Given the description of an element on the screen output the (x, y) to click on. 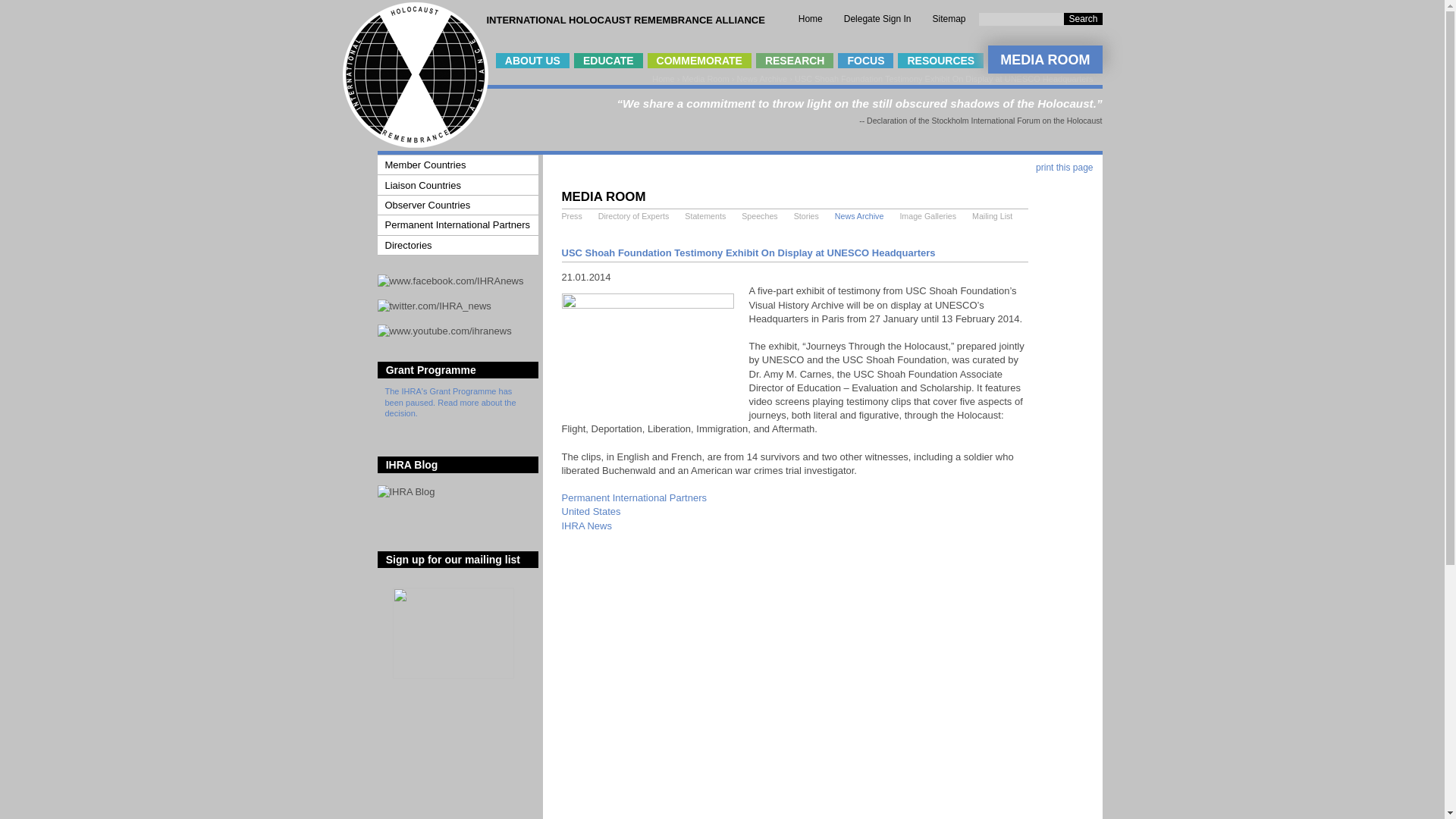
MEDIA ROOM (1045, 59)
Search (1083, 19)
Home (414, 143)
Research (794, 60)
Delegate Sign In (877, 18)
Sitemap (948, 18)
RESEARCH (794, 60)
Focus (865, 60)
FOCUS (865, 60)
Educate (608, 60)
